Given the description of an element on the screen output the (x, y) to click on. 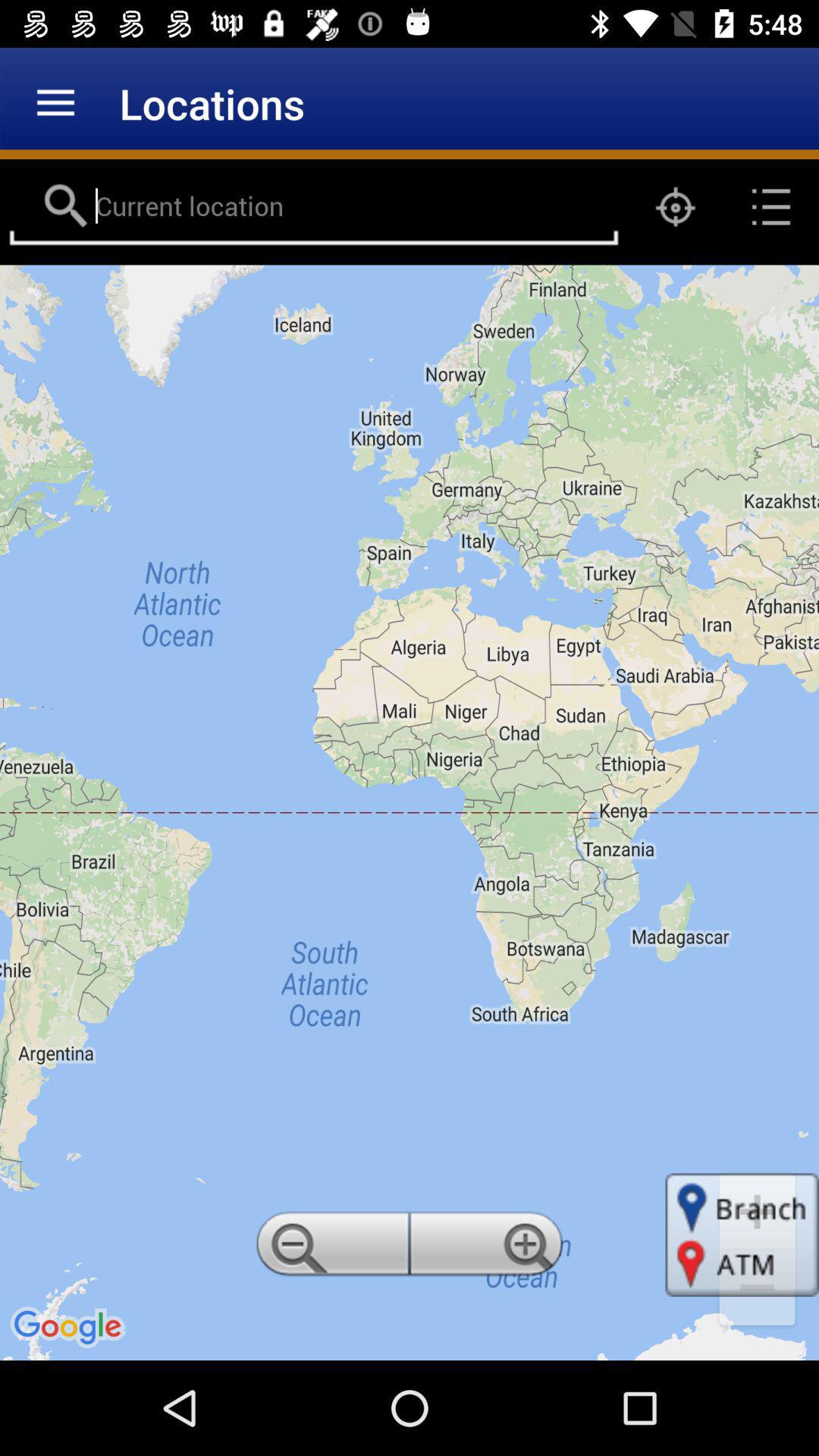
open the item to the left of locations icon (55, 103)
